Given the description of an element on the screen output the (x, y) to click on. 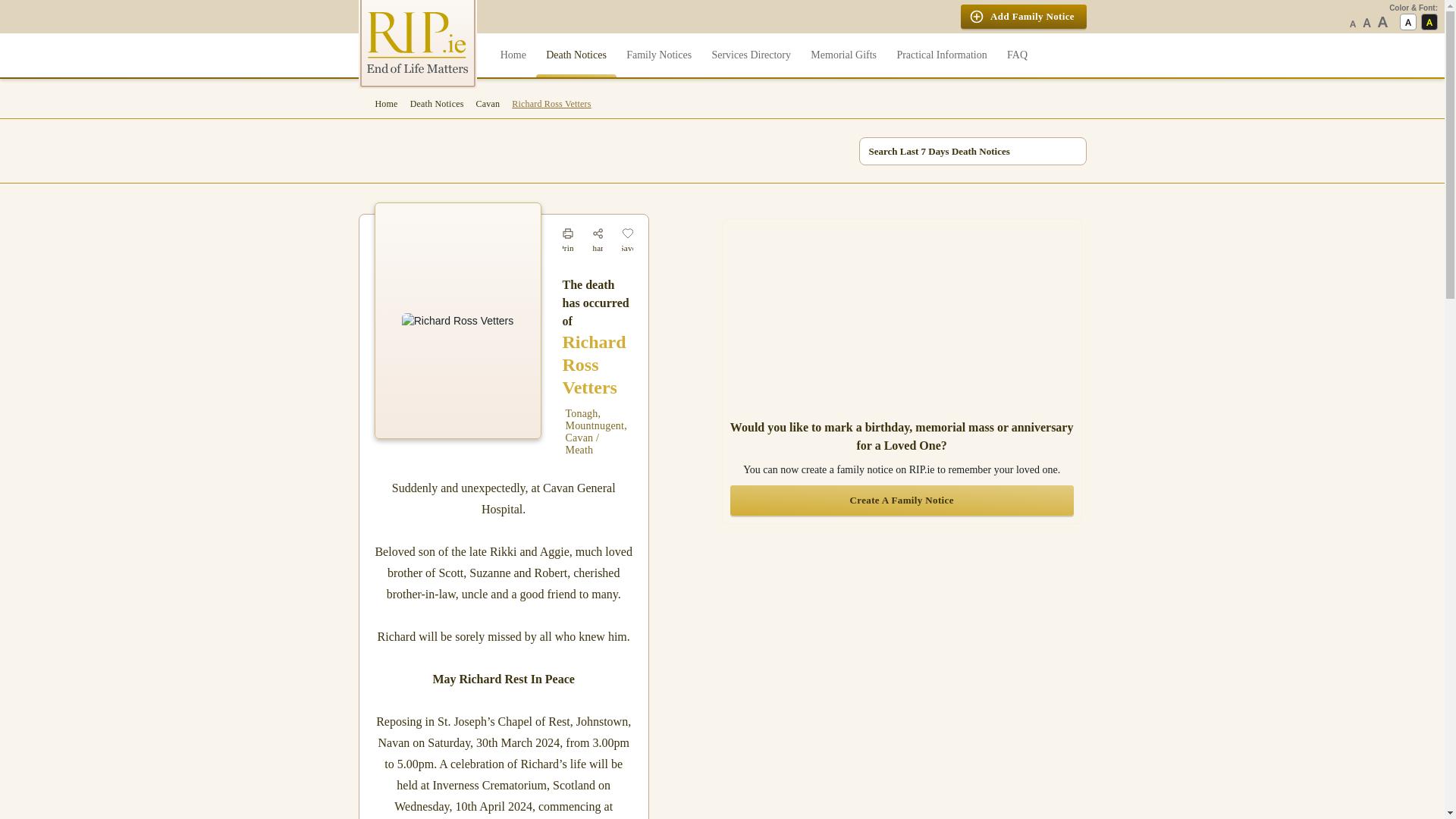
Create A Family Notice (902, 500)
Add Family Notice (1023, 16)
Family Notices (658, 54)
Death Notices (575, 54)
Memorial Gifts (843, 54)
Death Notices (437, 103)
Home (380, 103)
Cavan (488, 103)
Practical Information (941, 54)
Home (512, 54)
